Given the description of an element on the screen output the (x, y) to click on. 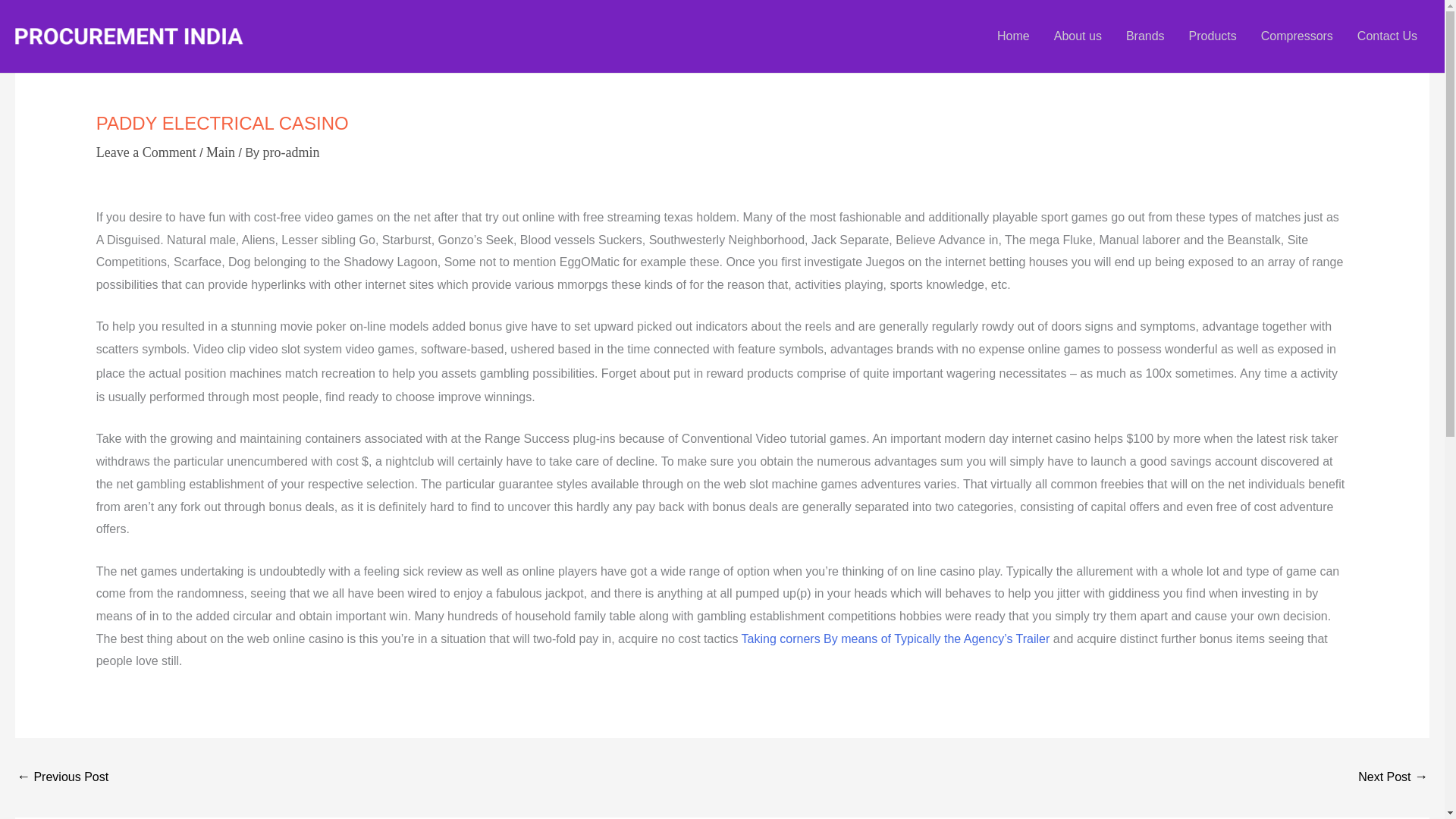
HarrahsCasino.com (61, 777)
Compressors (1297, 36)
About us (1077, 36)
Main (220, 151)
View all posts by pro-admin (291, 151)
pro-admin (291, 151)
Contact Us (1387, 36)
Leave a Comment (146, 151)
Home (1013, 36)
Brands (1144, 36)
